Given the description of an element on the screen output the (x, y) to click on. 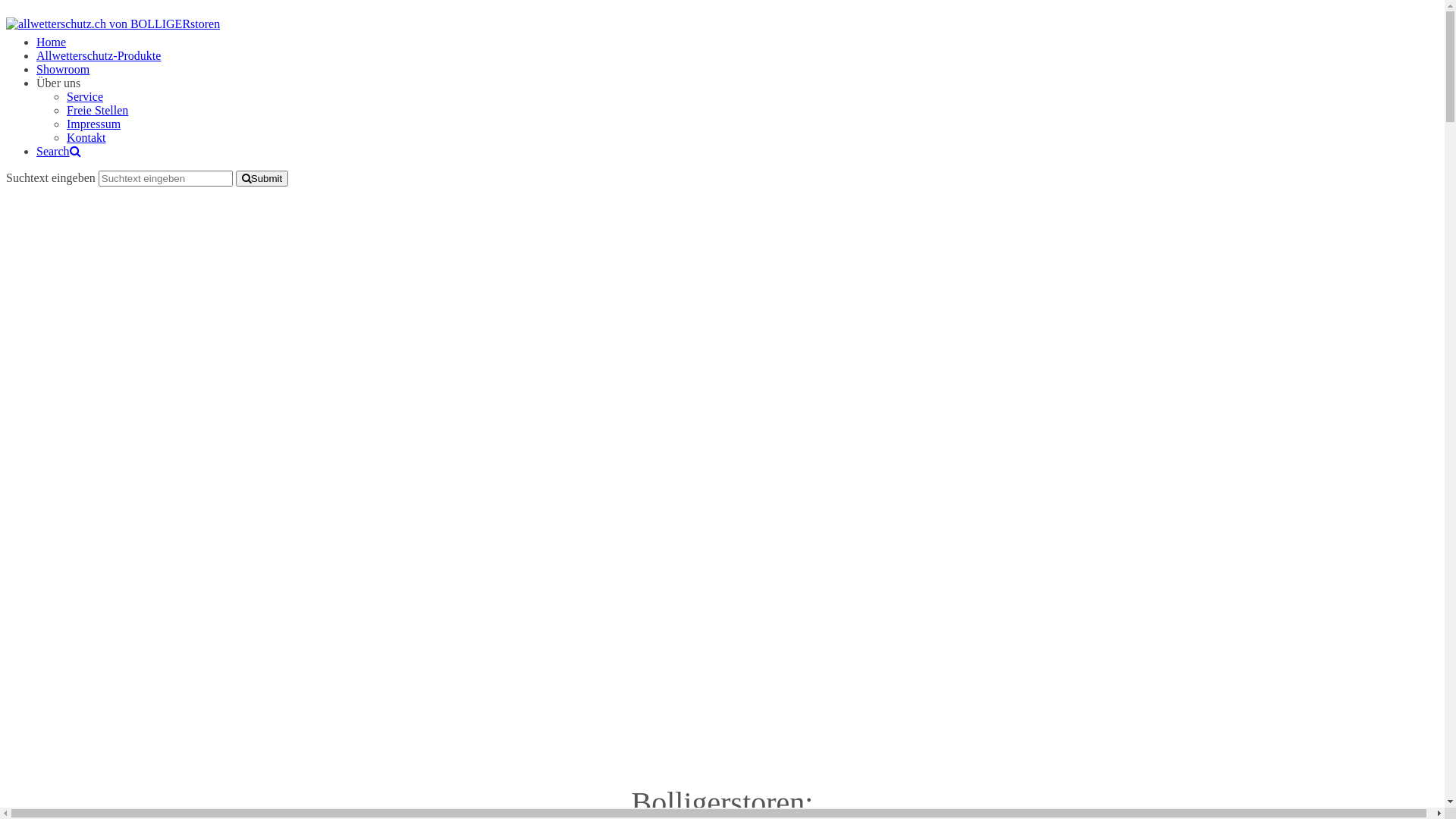
Kontakt Element type: text (86, 137)
Service Element type: text (84, 96)
Search Element type: text (58, 150)
Submit Element type: text (261, 178)
Home Element type: text (50, 41)
Showroom Element type: text (62, 68)
Freie Stellen Element type: text (97, 109)
Allwetterschutz-Produkte Element type: text (98, 55)
Impressum Element type: text (93, 123)
